Given the description of an element on the screen output the (x, y) to click on. 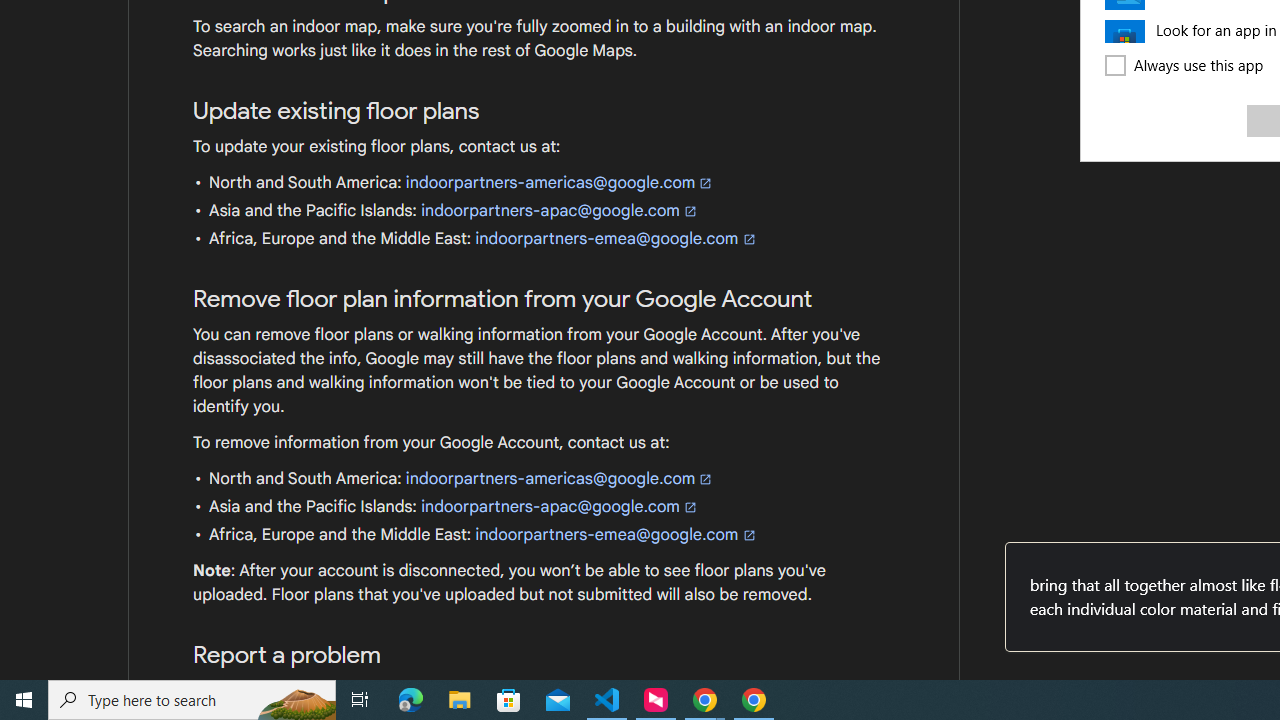
Google Chrome - 1 running window (754, 699)
